Given the description of an element on the screen output the (x, y) to click on. 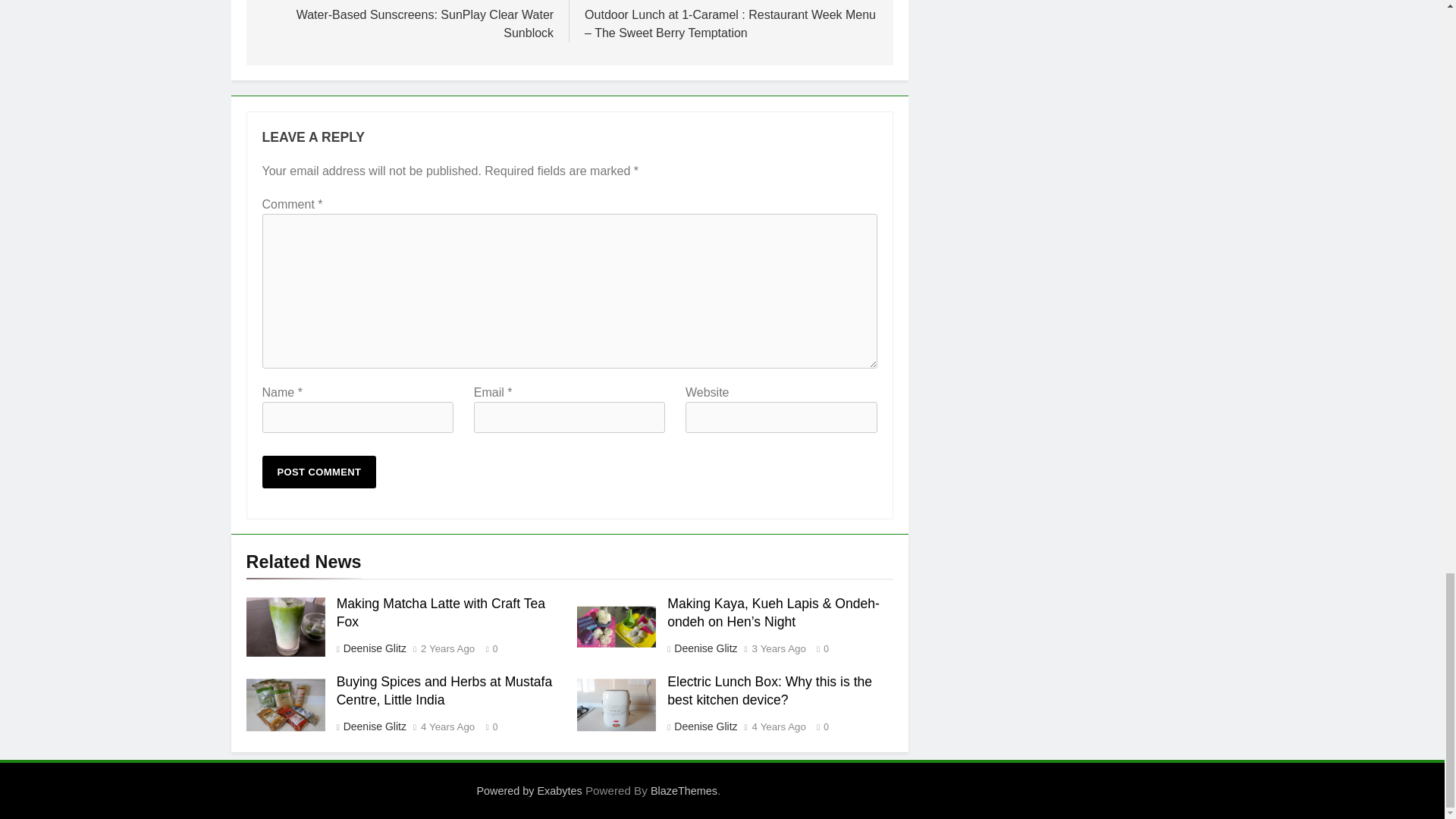
Post Comment (319, 471)
